Given the description of an element on the screen output the (x, y) to click on. 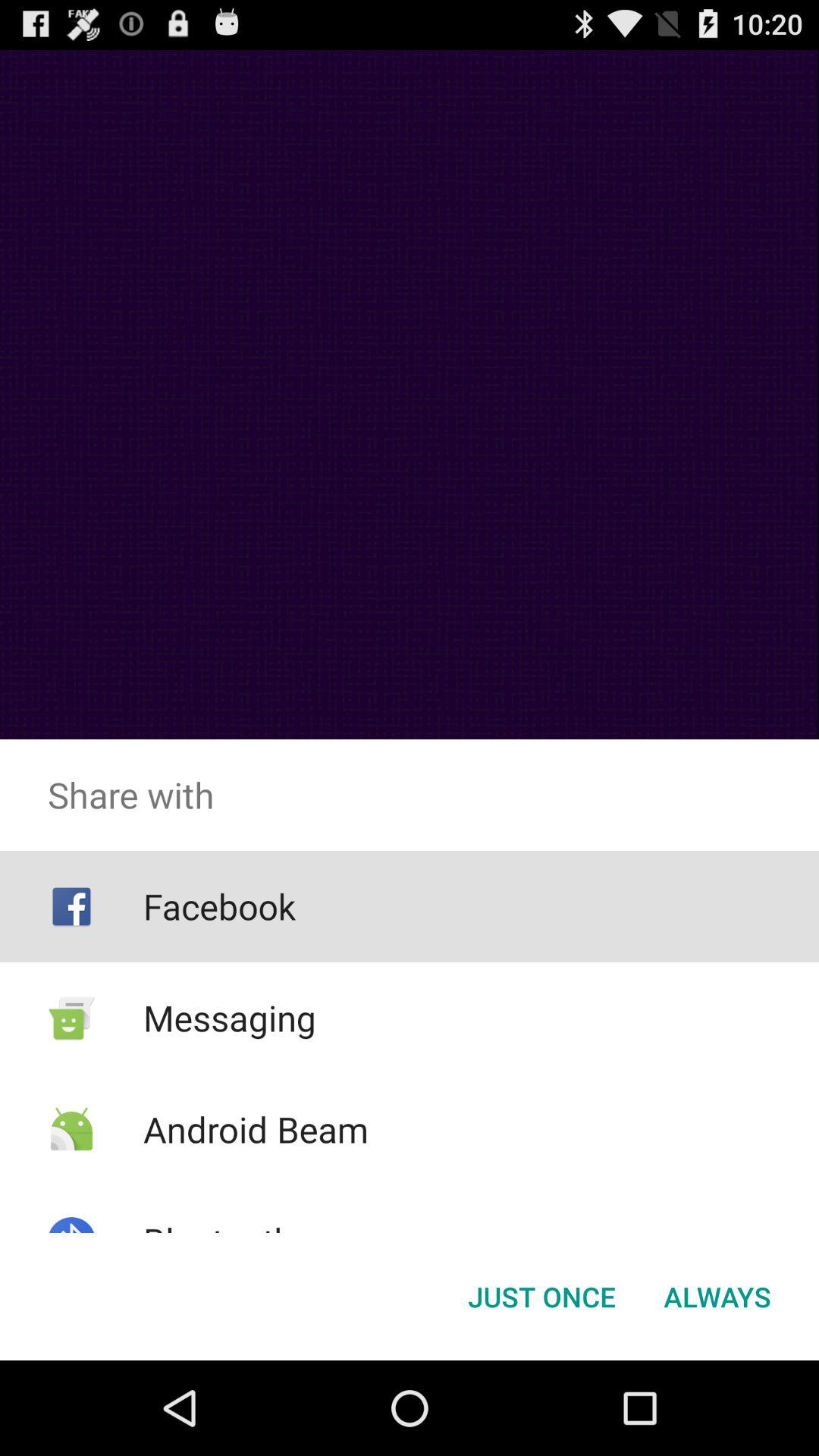
open icon to the right of the just once button (717, 1296)
